Given the description of an element on the screen output the (x, y) to click on. 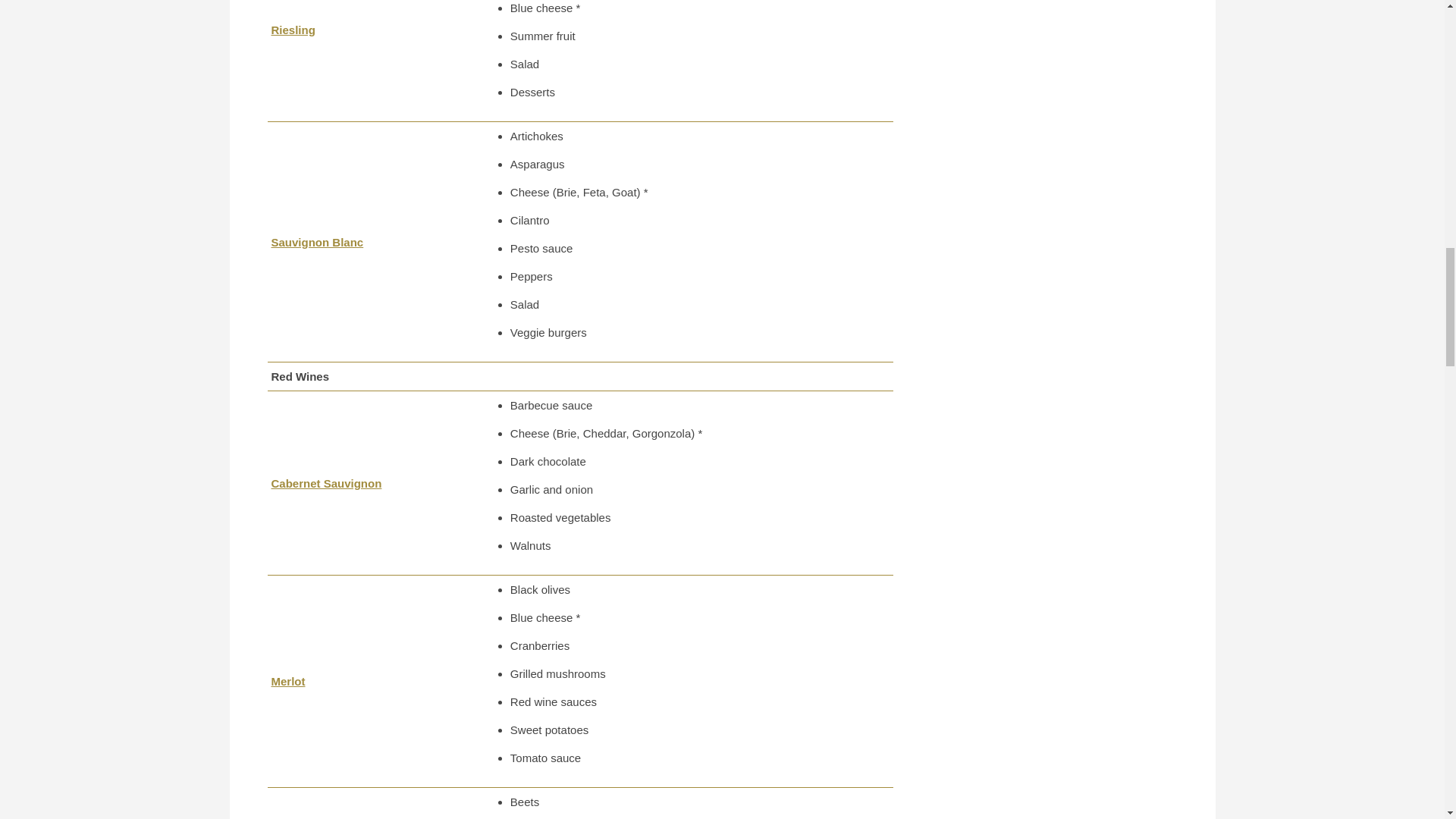
Cabernet Sauvignon (325, 481)
Sauvignon Blanc (317, 241)
Riesling (292, 29)
Merlot (287, 680)
